Given the description of an element on the screen output the (x, y) to click on. 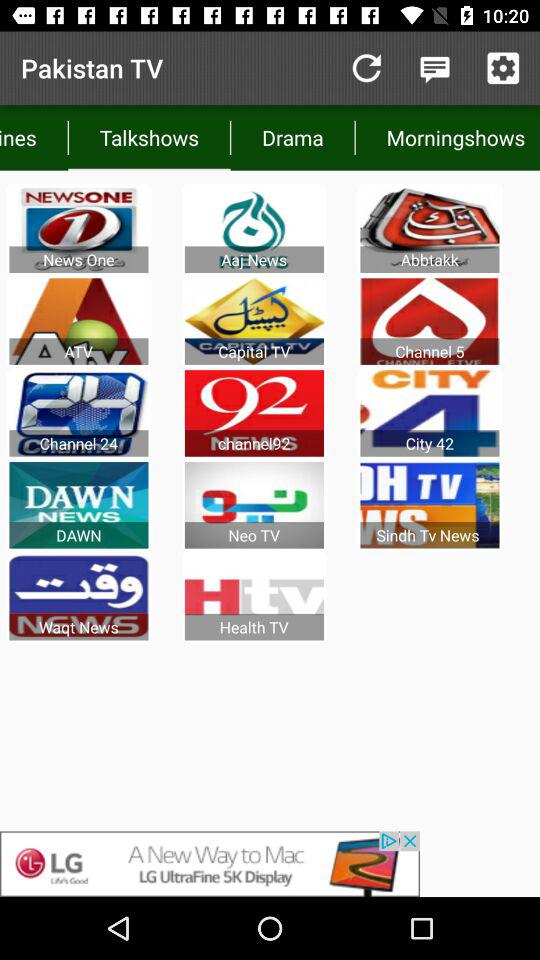
settings icon (503, 67)
